Given the description of an element on the screen output the (x, y) to click on. 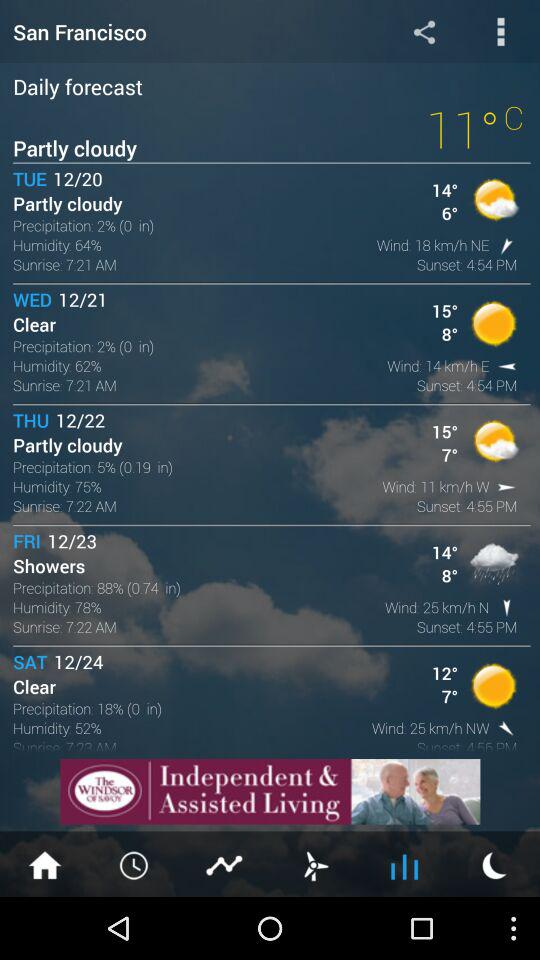
home page app (45, 864)
